Given the description of an element on the screen output the (x, y) to click on. 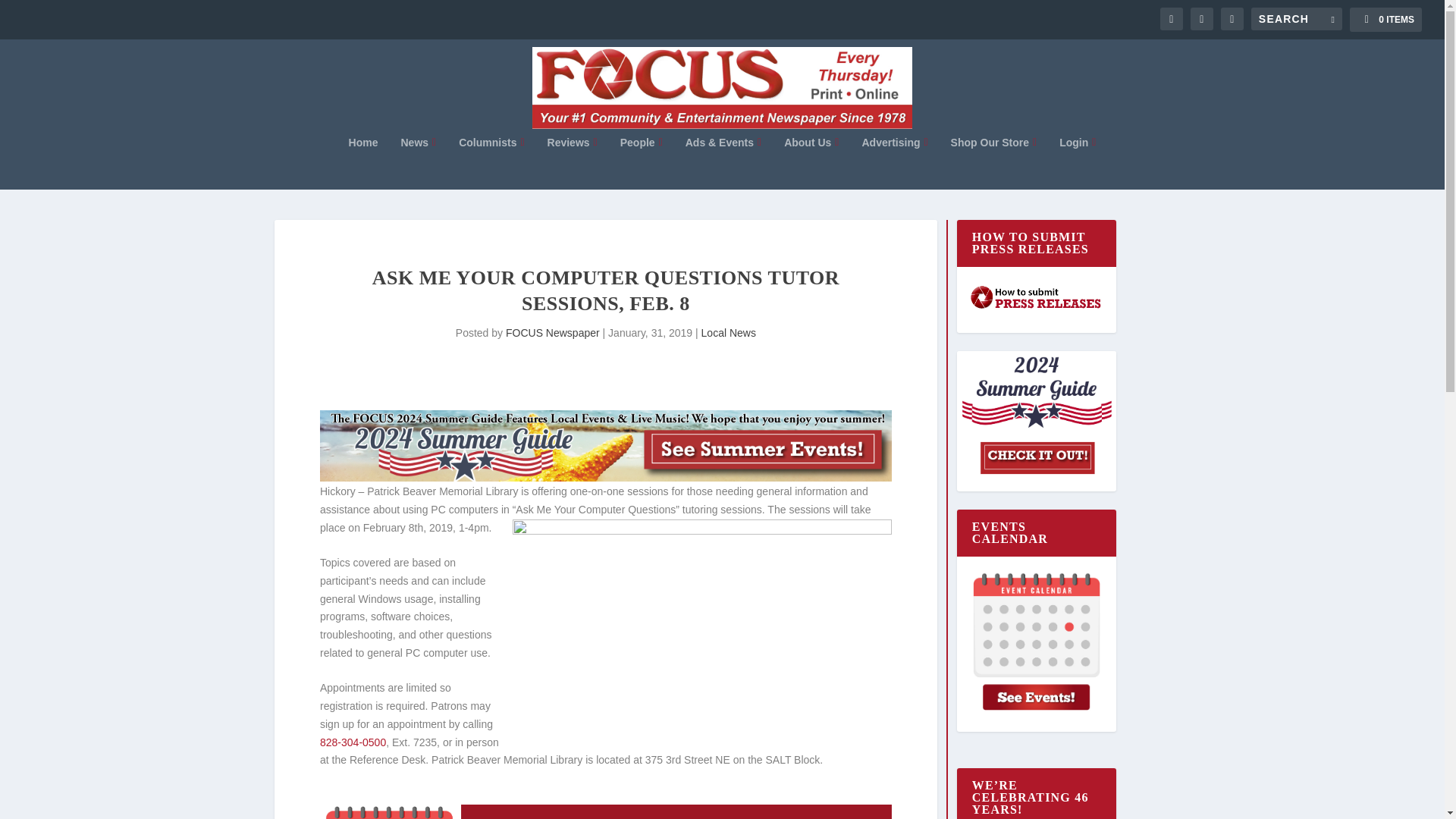
Posts by FOCUS Newspaper (552, 332)
Reviews (571, 162)
Columnists (491, 162)
Advertising (894, 162)
0 ITEMS (1385, 19)
Search for: (1296, 18)
0 Items in Cart (1385, 19)
About Us (811, 162)
Shop Our Store (993, 162)
